Given the description of an element on the screen output the (x, y) to click on. 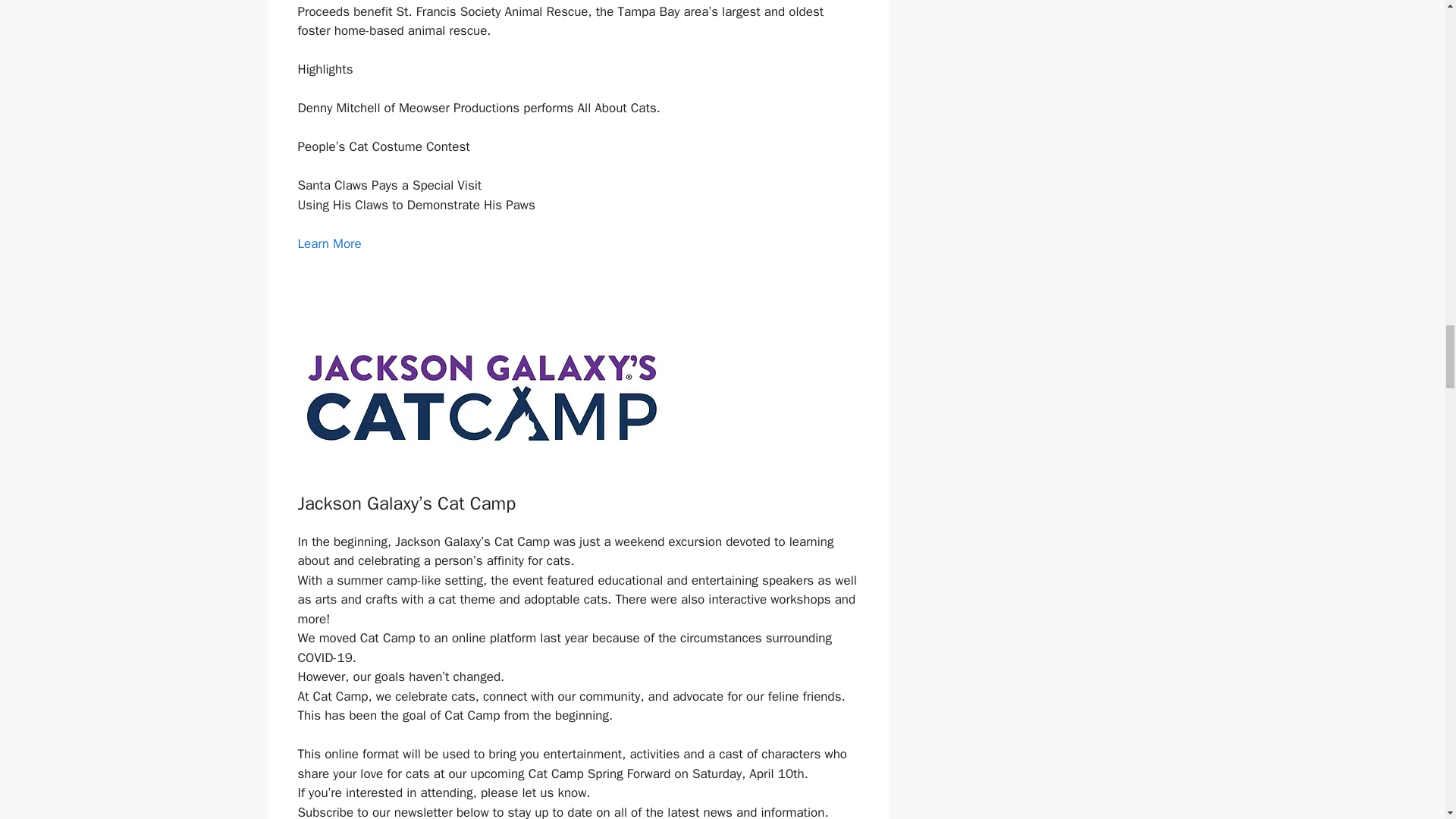
Learn More (329, 243)
